Given the description of an element on the screen output the (x, y) to click on. 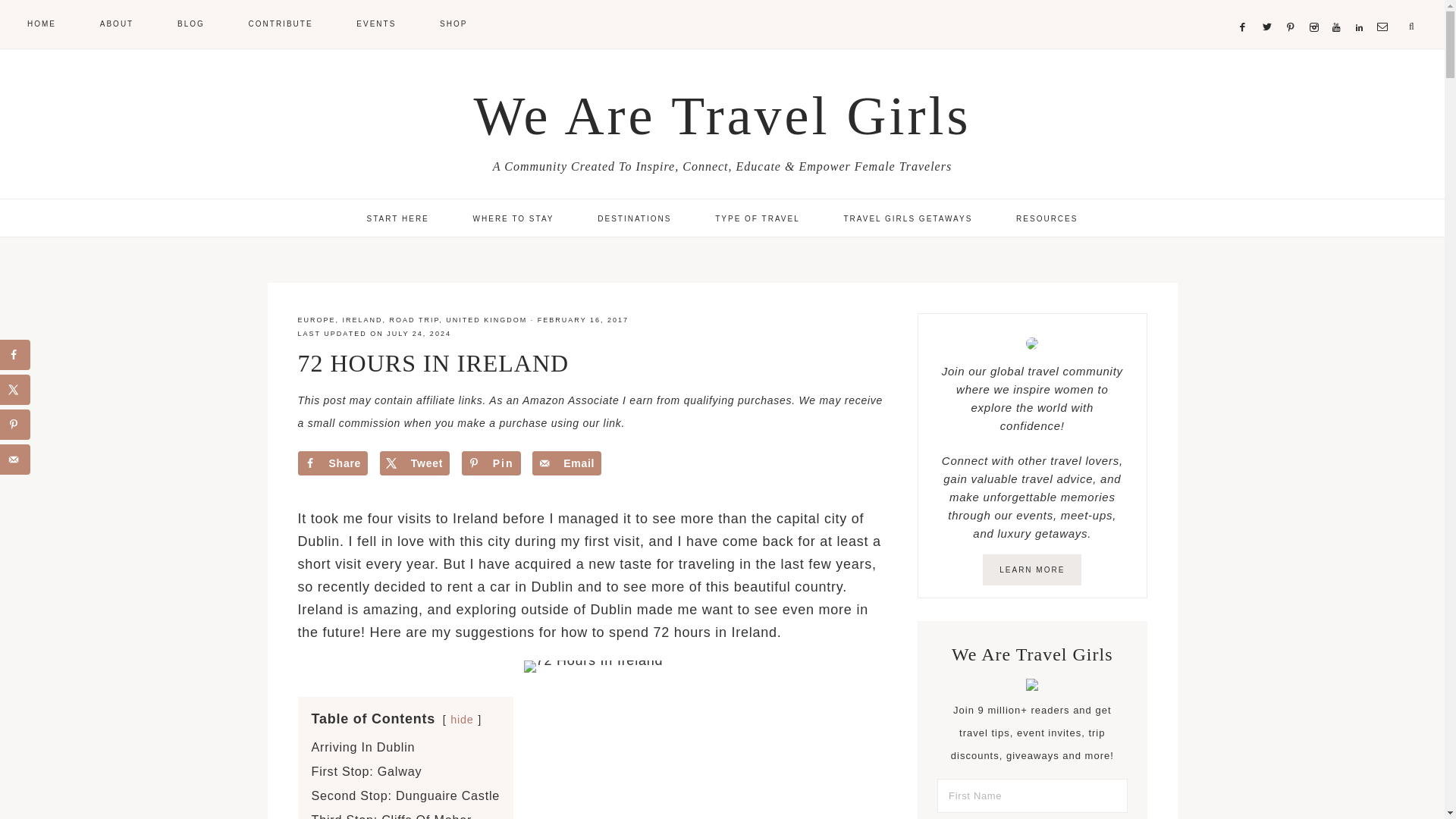
BLOG (190, 22)
CONTRIBUTE (280, 22)
Twitter (1269, 8)
We Are Travel Girls (722, 115)
Facebook (1245, 8)
YouTube (1339, 8)
START HERE (397, 217)
Email (1385, 8)
LinkedIn (1362, 8)
SHOP (453, 22)
Save to Pinterest (491, 463)
Instagram (1316, 8)
DESTINATIONS (634, 217)
EVENTS (375, 22)
HOME (41, 22)
